Given the description of an element on the screen output the (x, y) to click on. 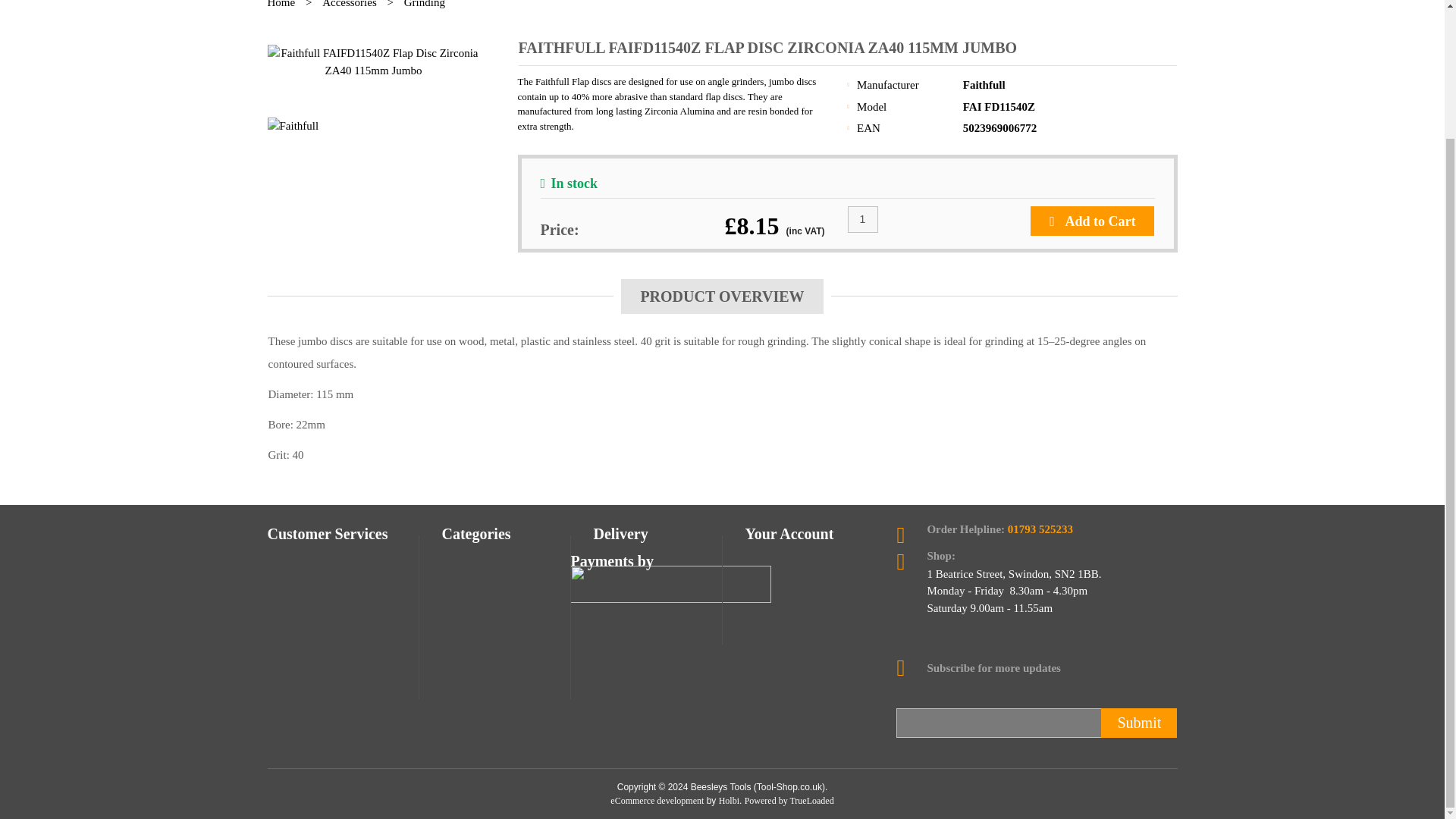
Faithfull FAIFD11540Z Flap Disc Zirconia ZA40 115mm Jumbo (372, 61)
Submit (1138, 722)
1 (862, 218)
Faithfull (984, 84)
